Given the description of an element on the screen output the (x, y) to click on. 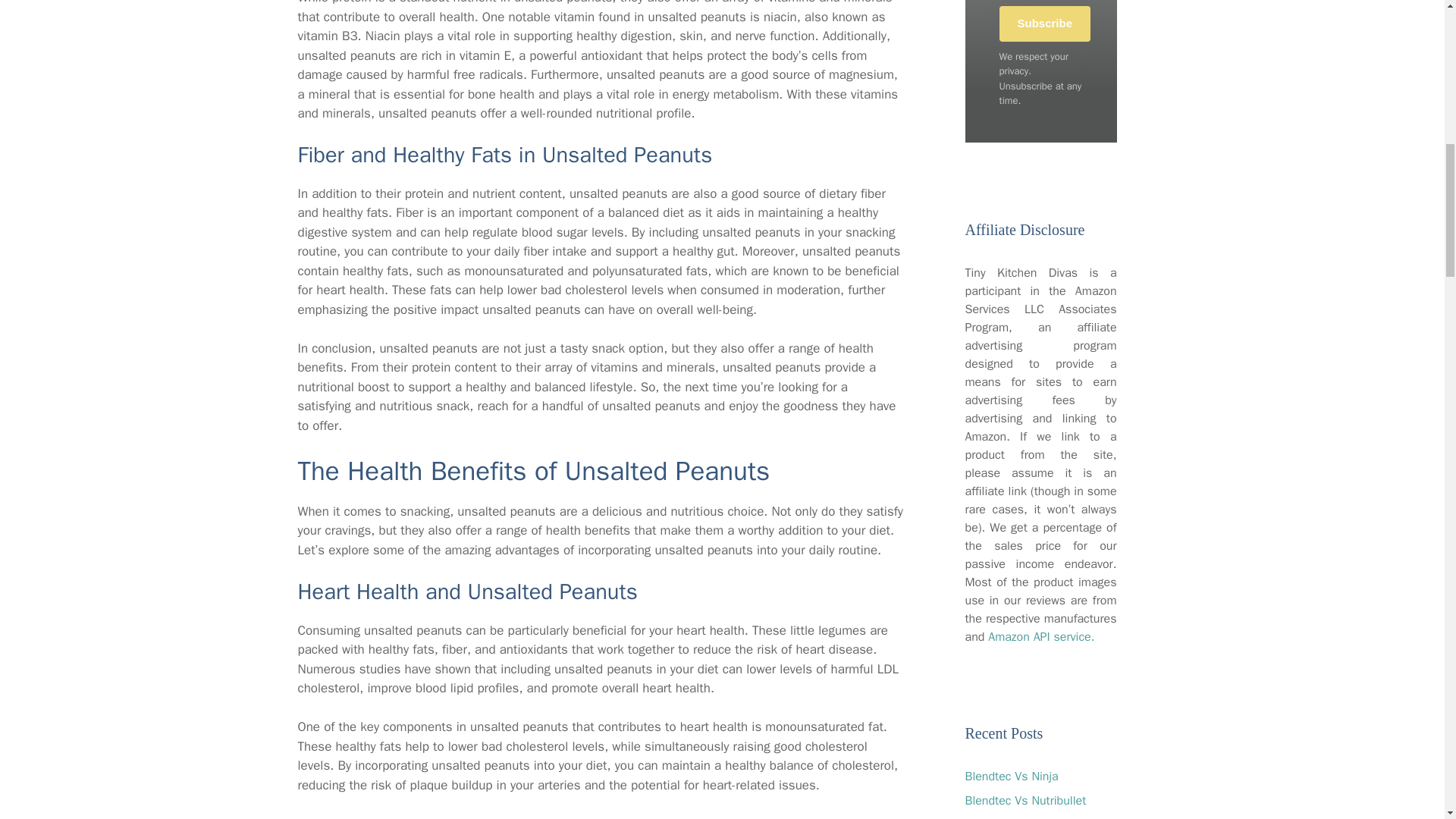
Blendtec Vs Nutribullet (1024, 800)
Subscribe (1044, 23)
Scroll back to top (1406, 720)
Blendtec Vs Ninja (1010, 776)
Amazon API service. (1041, 636)
